Given the description of an element on the screen output the (x, y) to click on. 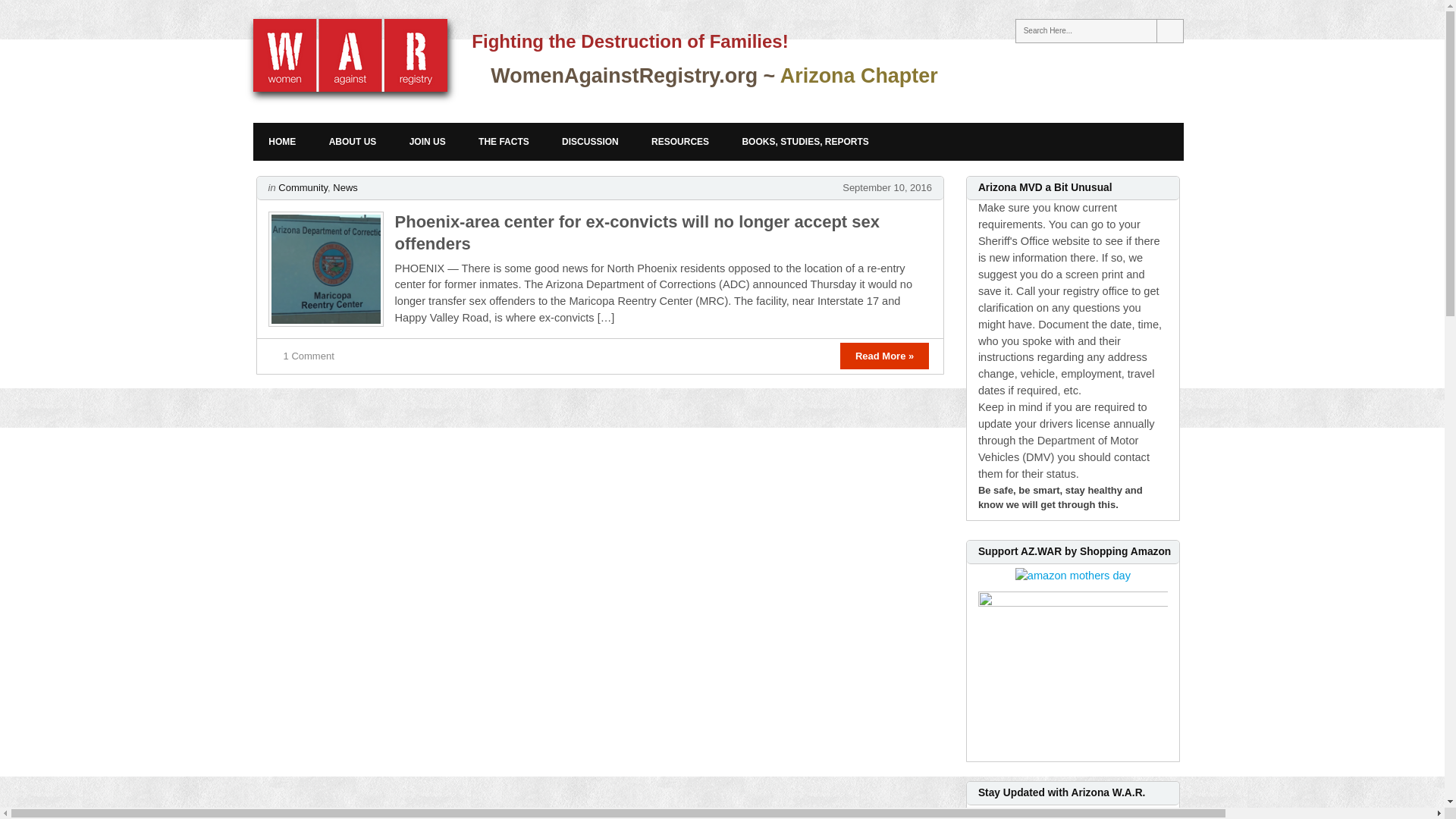
THE FACTS (503, 141)
JOIN US (427, 141)
DISCUSSION (590, 141)
HOME (282, 141)
Community (302, 187)
ABOUT US (352, 141)
News (345, 187)
1 Comment (308, 355)
BOOKS, STUDIES, REPORTS (804, 141)
RESOURCES (679, 141)
